Given the description of an element on the screen output the (x, y) to click on. 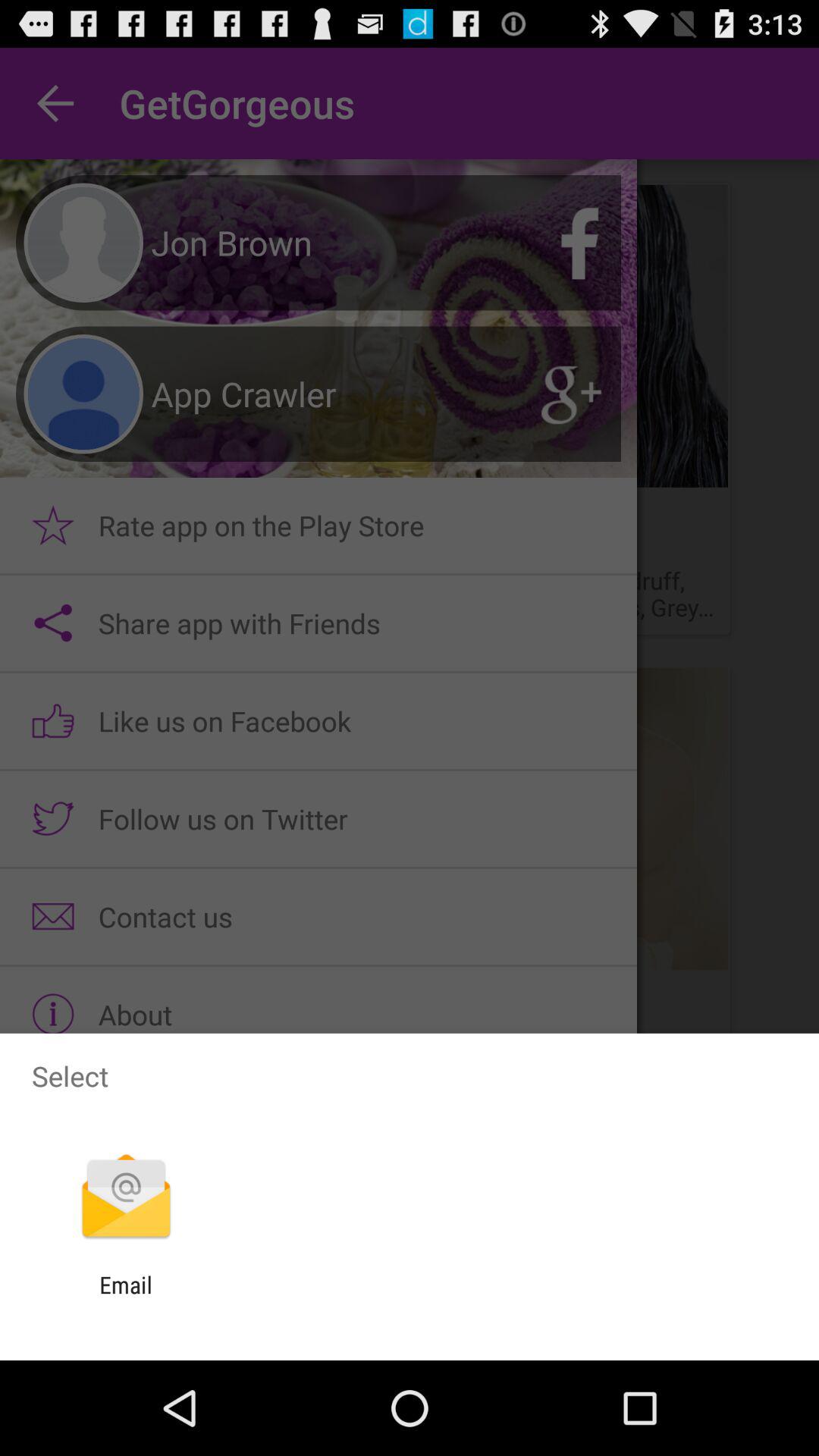
open item below the select icon (126, 1198)
